Given the description of an element on the screen output the (x, y) to click on. 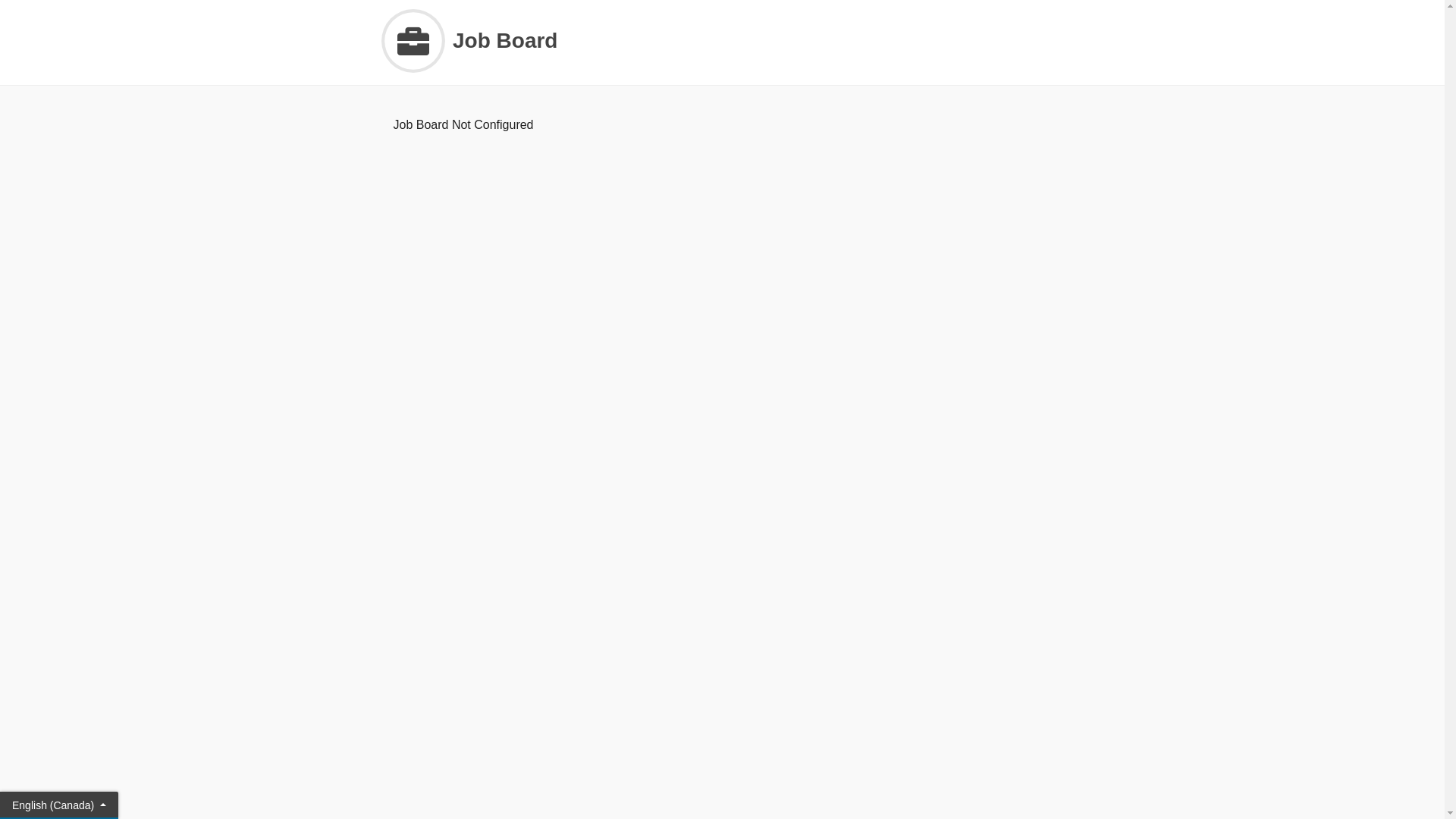
Job Board Element type: text (722, 40)
